Given the description of an element on the screen output the (x, y) to click on. 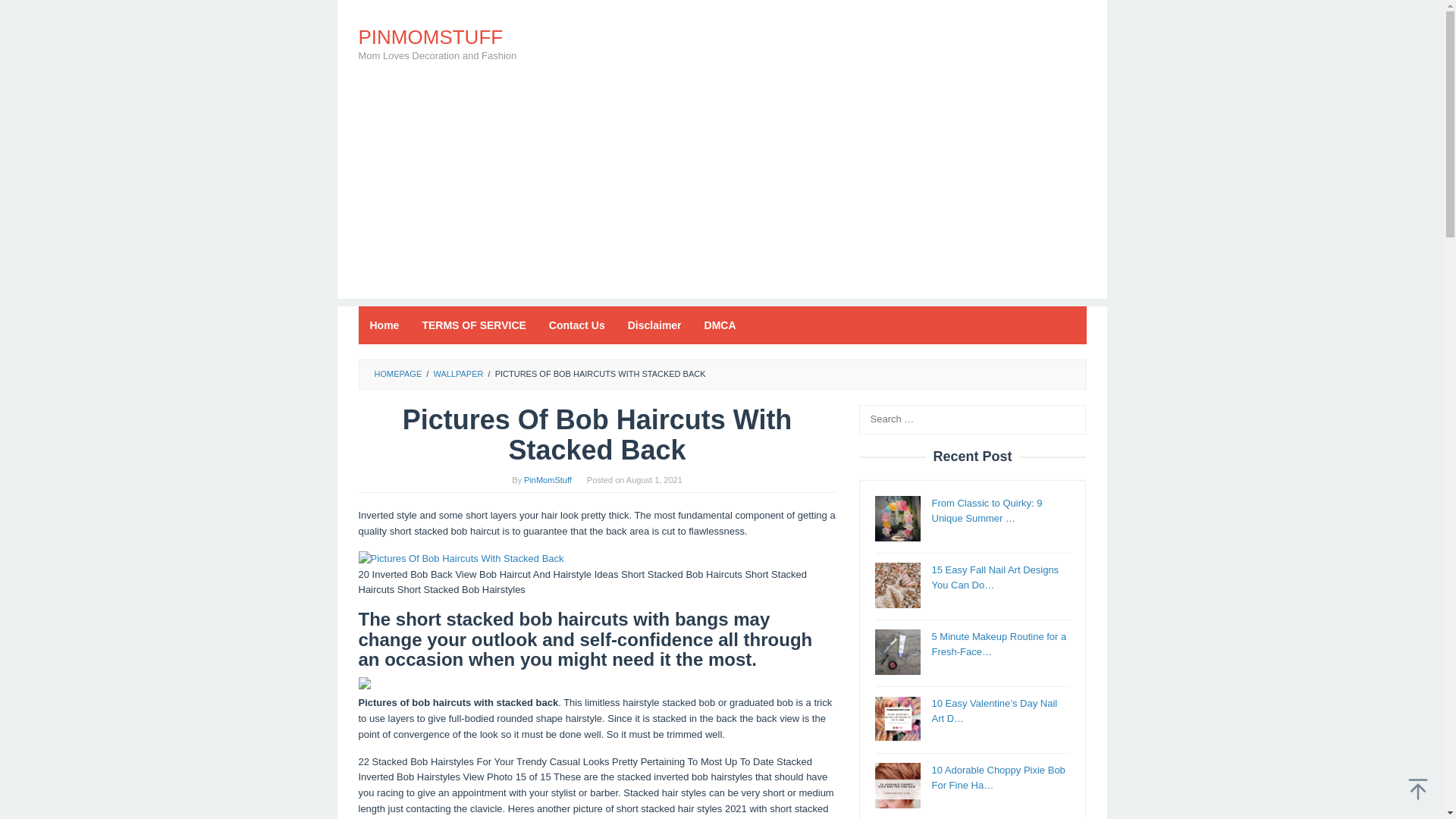
PINMOMSTUFF (430, 36)
Disclaimer (654, 324)
PinMomStuff (548, 479)
Contact Us (576, 324)
Home (384, 324)
WALLPAPER (457, 373)
Pictures Of Bob Haircuts With Stacked Back (460, 559)
DMCA (720, 324)
Permalink to: PinMomStuff (548, 479)
HOMEPAGE (398, 373)
